Given the description of an element on the screen output the (x, y) to click on. 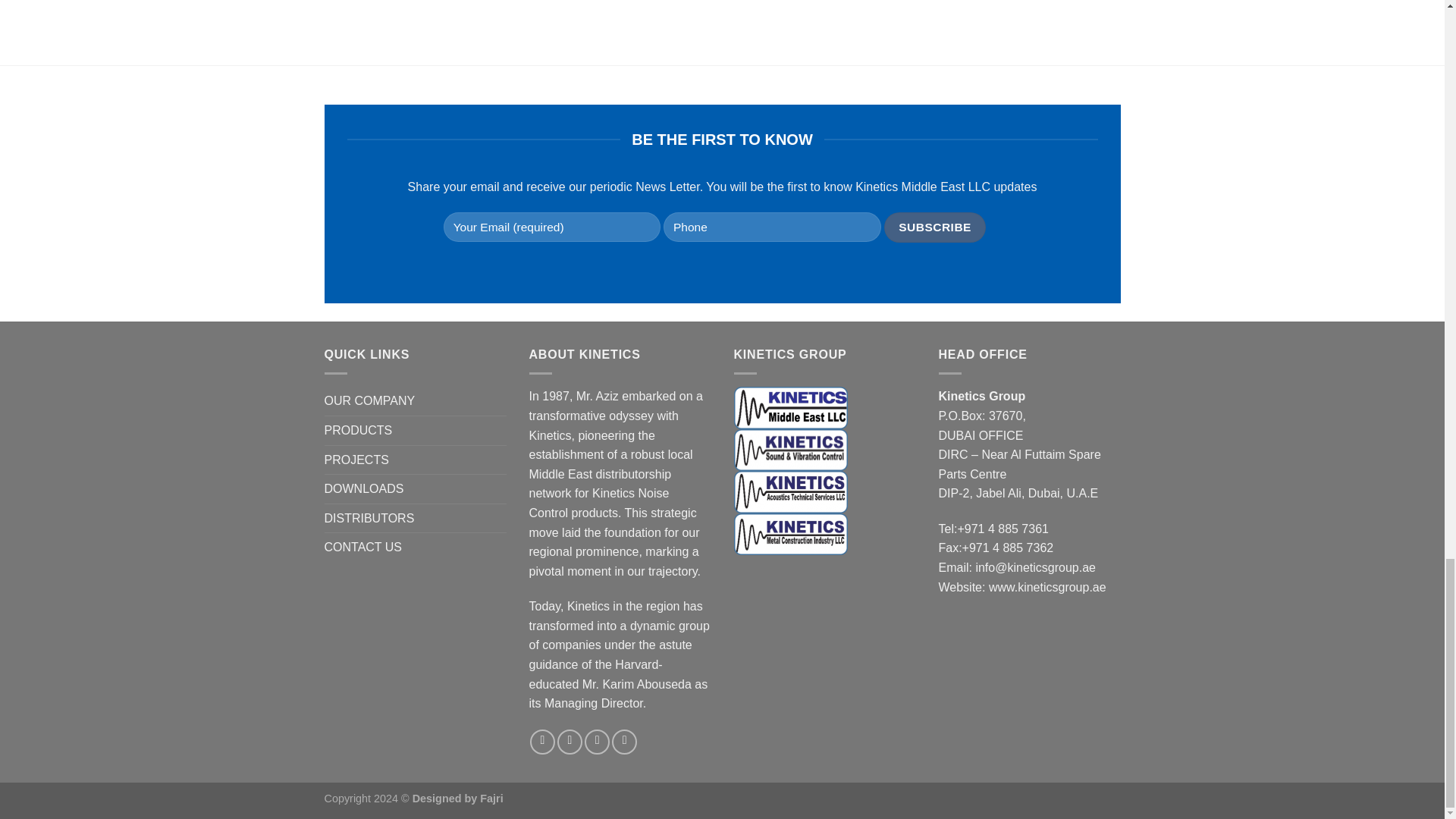
subscribe (935, 226)
